Given the description of an element on the screen output the (x, y) to click on. 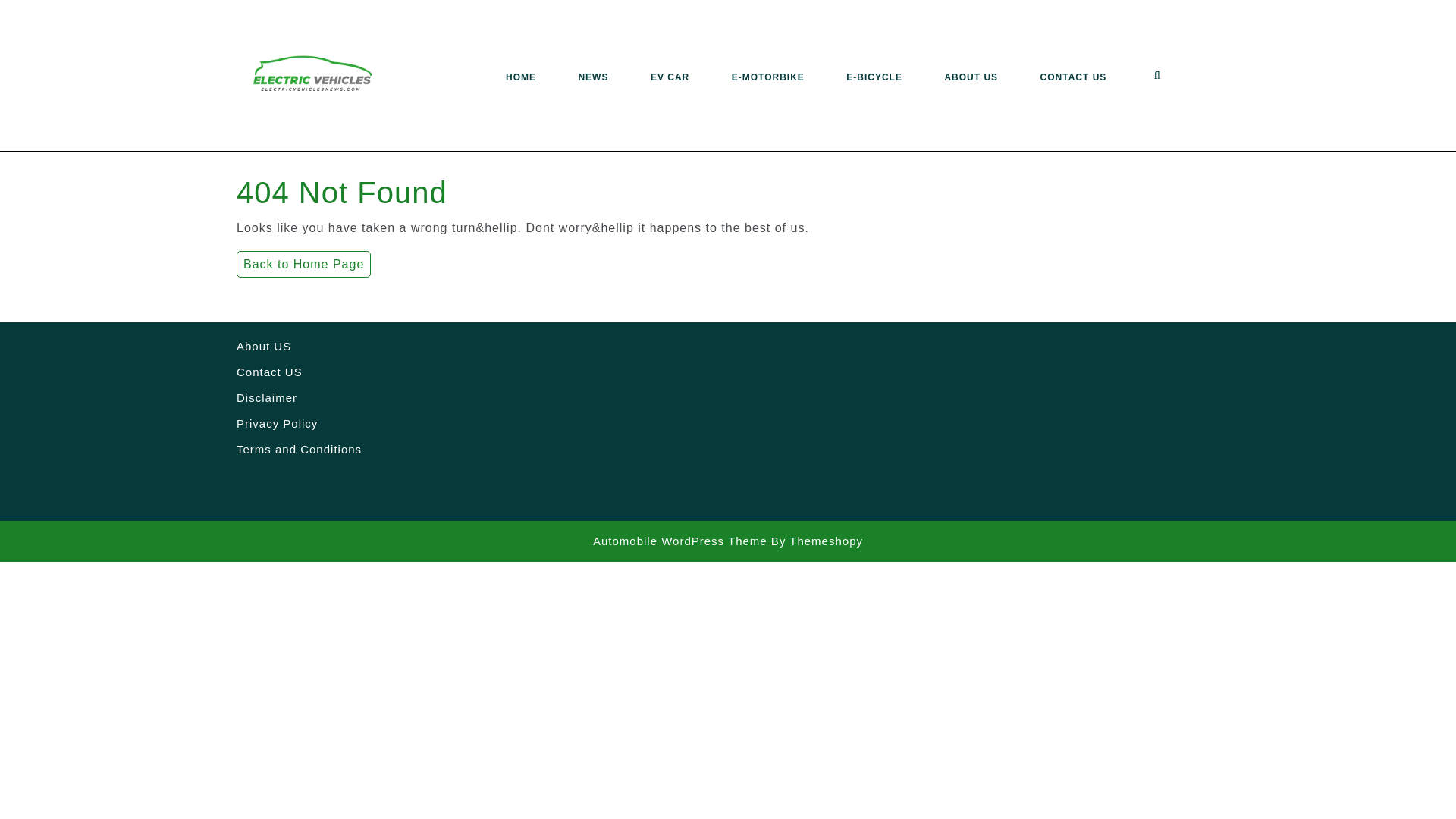
About US (263, 345)
CONTACT US (1073, 77)
E-BICYCLE (874, 77)
EV CAR (669, 77)
Search (1164, 77)
Terms and Conditions (298, 449)
HOME (520, 77)
Back to Home Page (303, 263)
NEWS (593, 77)
Automobile WordPress Theme (679, 540)
